Given the description of an element on the screen output the (x, y) to click on. 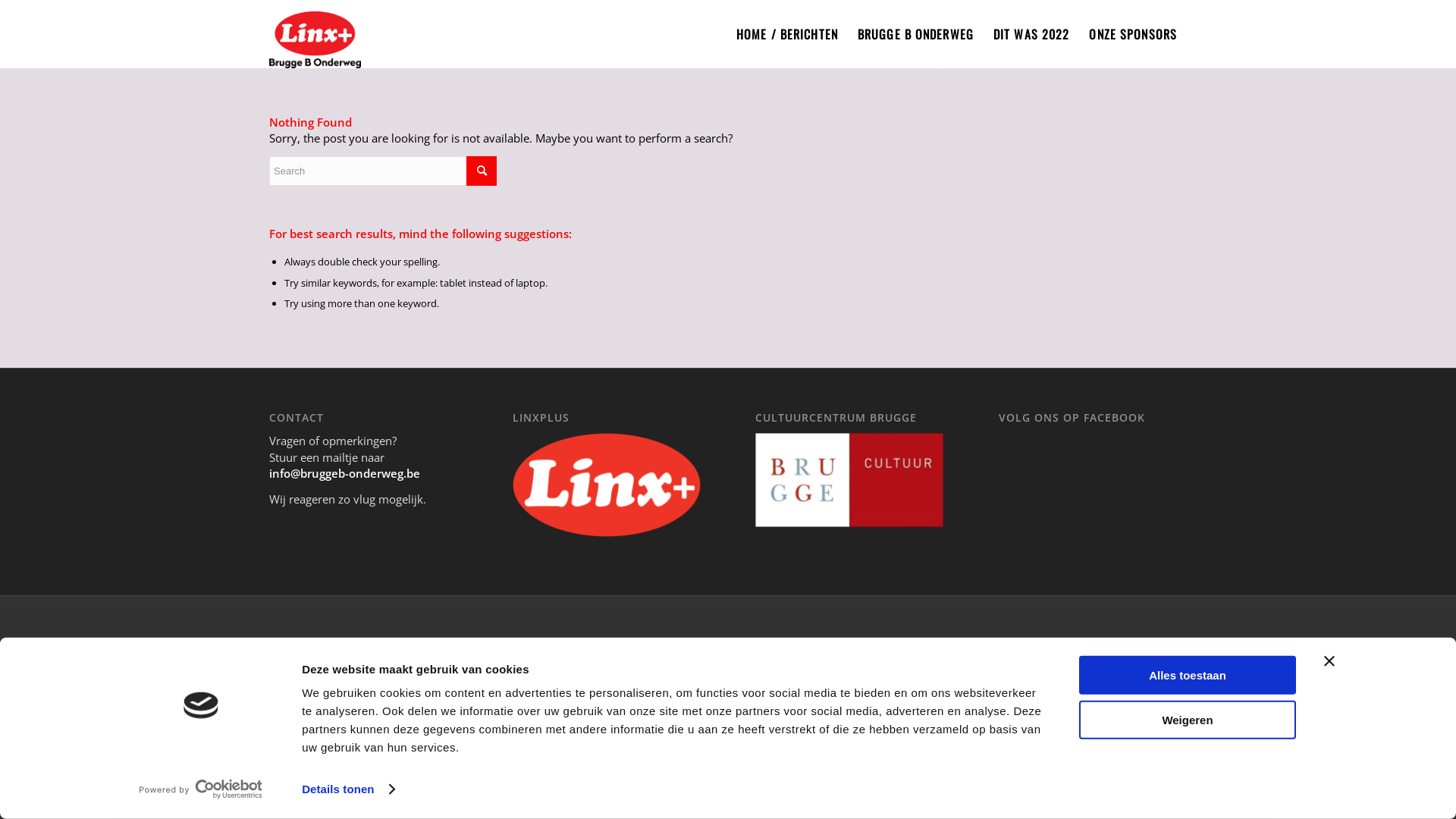
BRUGGE B ONDERWEG Element type: text (915, 34)
Alles toestaan Element type: text (1187, 674)
ONZE SPONSORS Element type: text (1132, 34)
DIT WAS 2022 Element type: text (1031, 34)
HOME / BERICHTEN Element type: text (786, 34)
Weigeren Element type: text (1187, 718)
Details tonen Element type: text (347, 789)
Logo_BruggeB_Onderweg_1_lijn Element type: hover (314, 34)
